Given the description of an element on the screen output the (x, y) to click on. 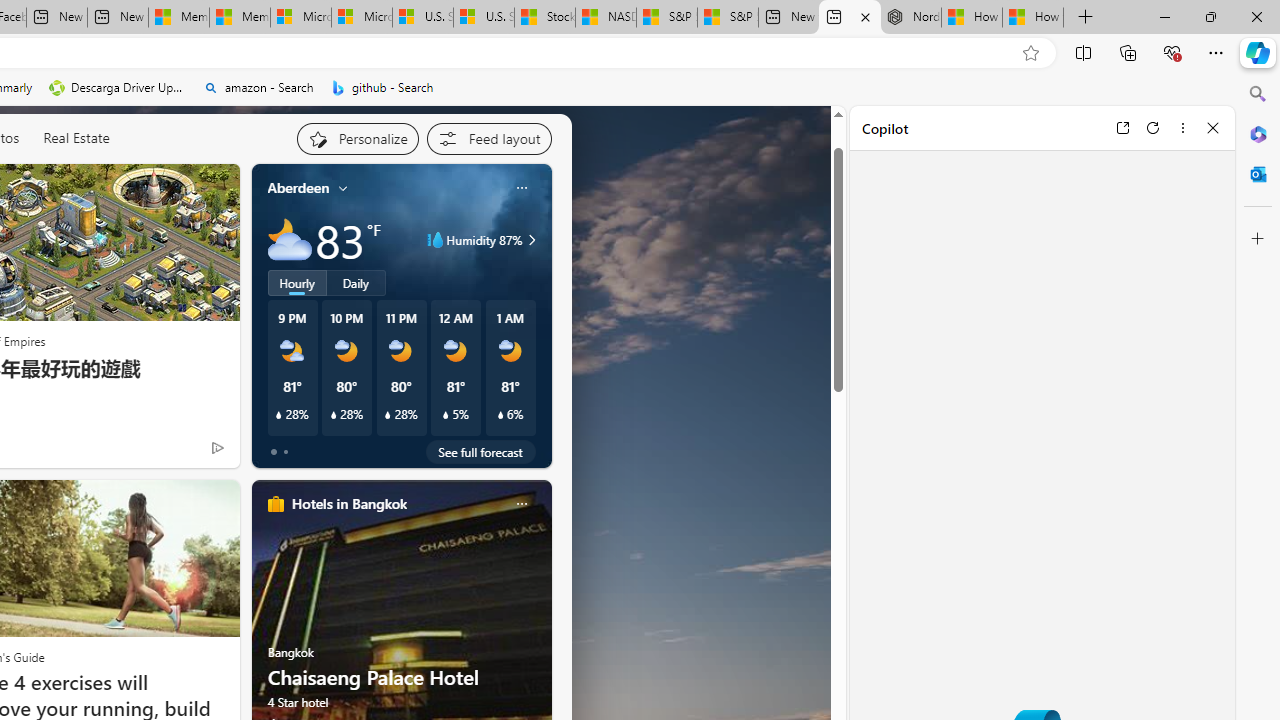
Hourly (296, 282)
Hotels in Bangkok (348, 503)
